Given the description of an element on the screen output the (x, y) to click on. 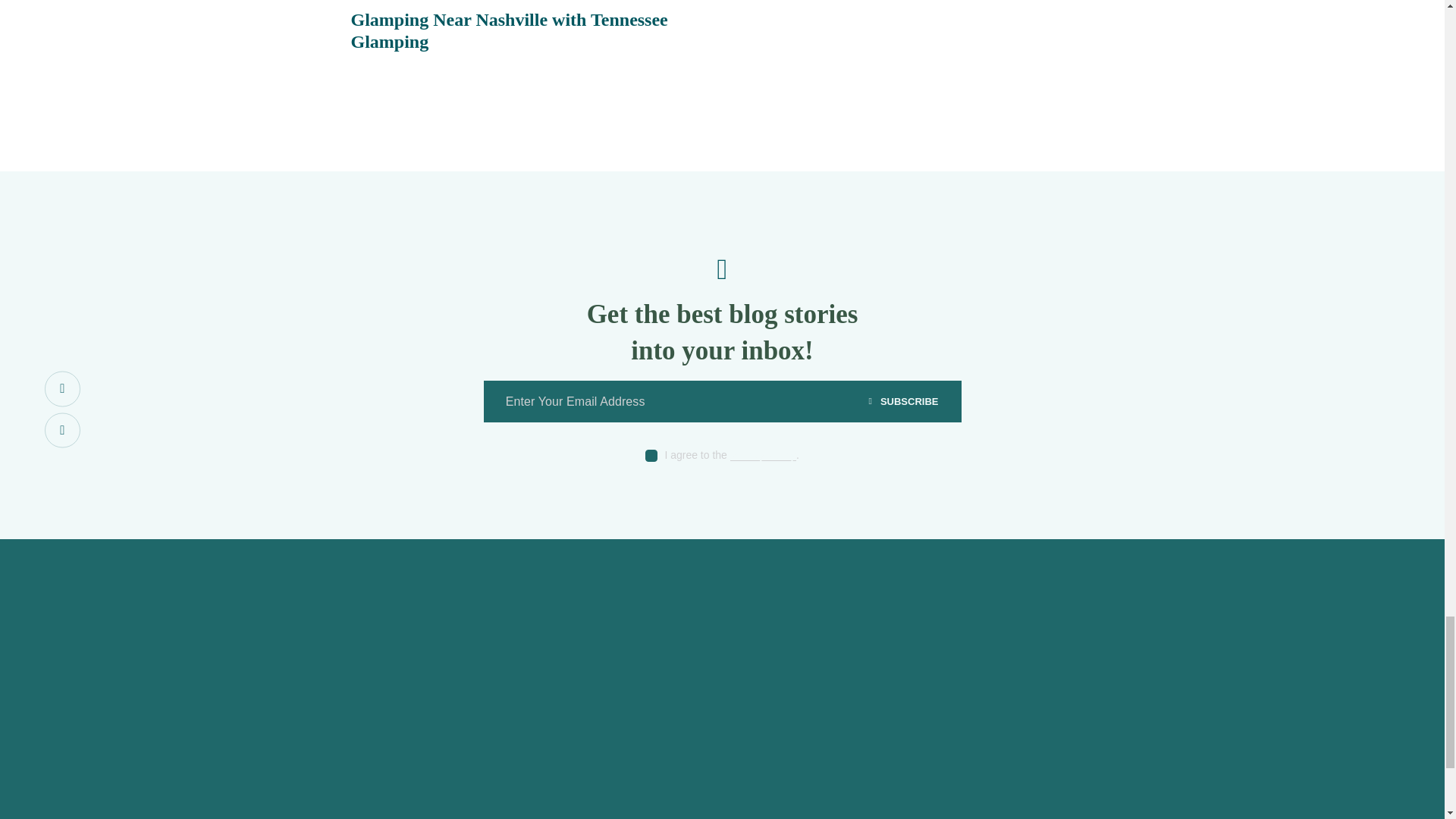
1 (965, 385)
